Given the description of an element on the screen output the (x, y) to click on. 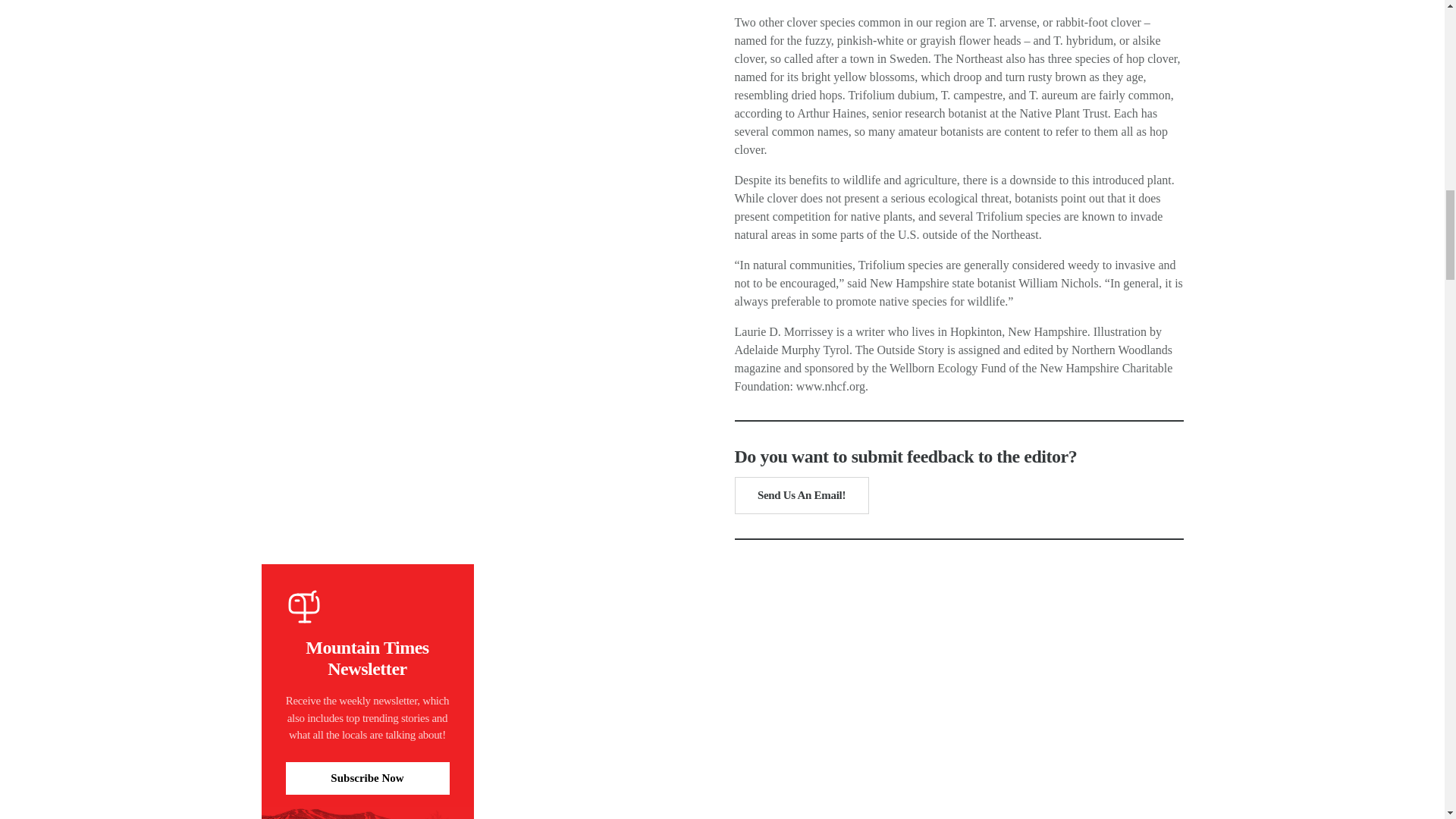
Subscribe Now (366, 778)
Send Us An Email! (800, 495)
